Given the description of an element on the screen output the (x, y) to click on. 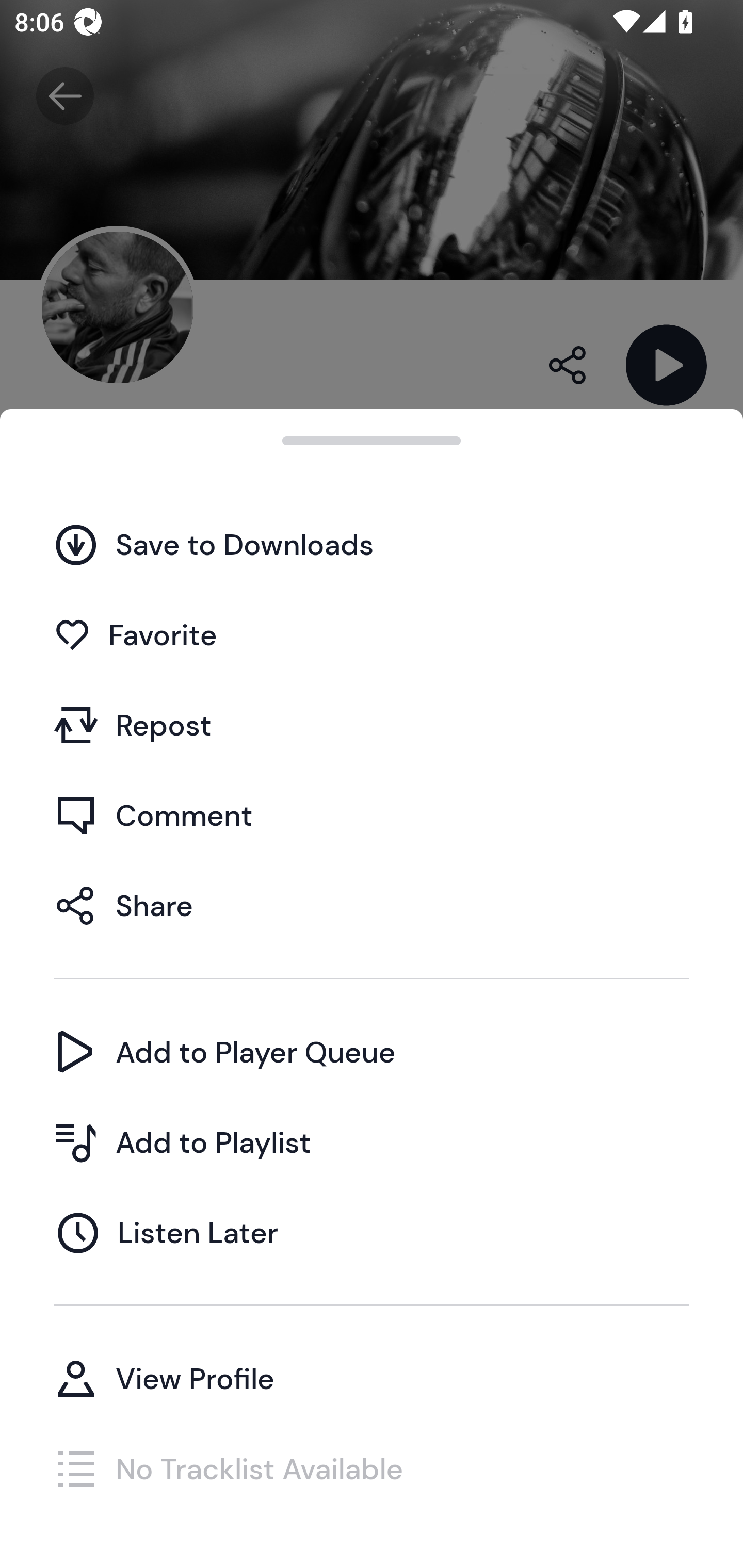
Save to Downloads (371, 543)
Favorite (371, 634)
Repost (371, 724)
Comment (371, 814)
Share (371, 905)
Add to Player Queue (371, 1051)
Add to Playlist (371, 1141)
Listen Later (371, 1231)
View Profile (371, 1377)
No Tracklist Available (371, 1468)
